Given the description of an element on the screen output the (x, y) to click on. 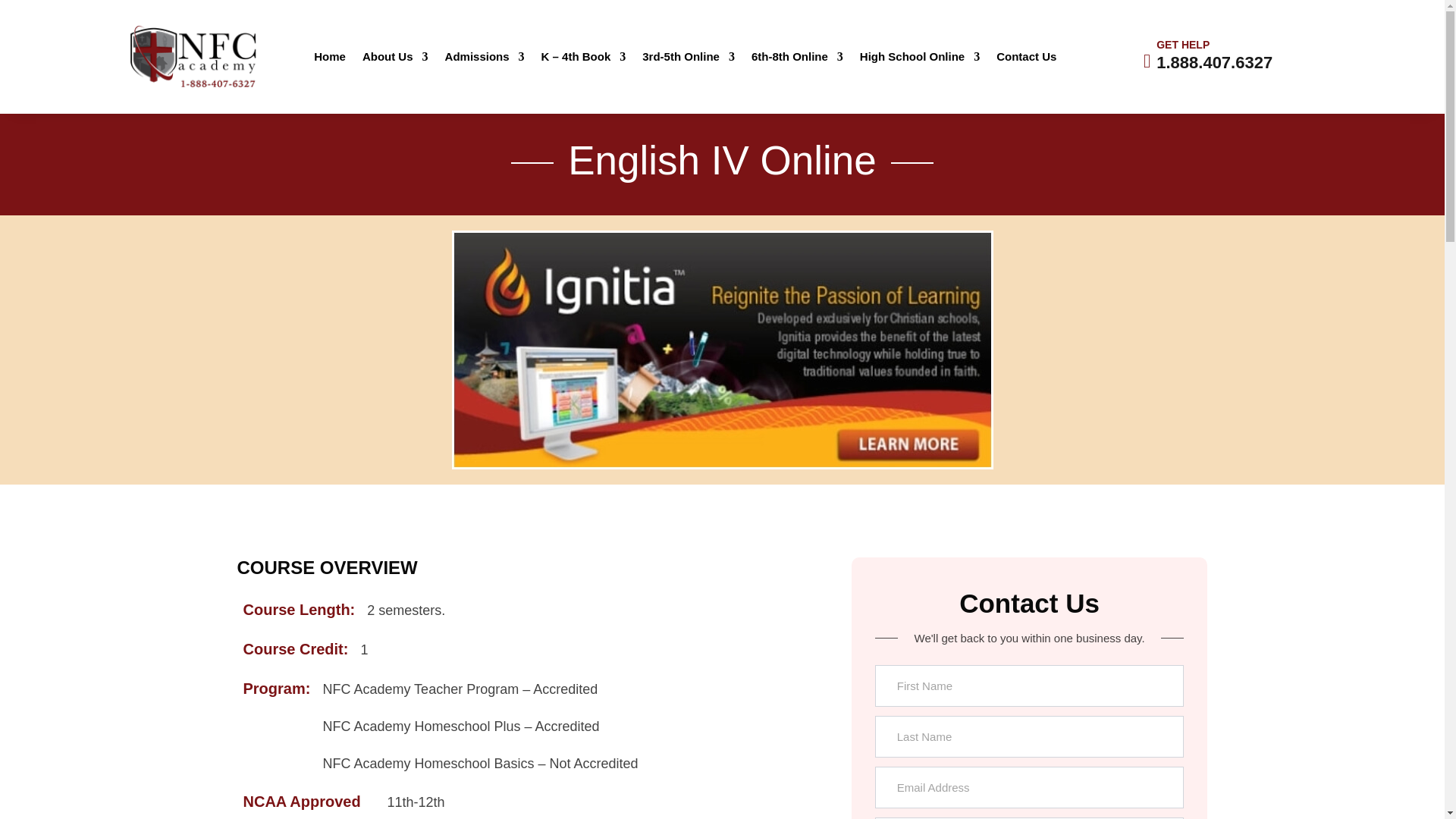
Home (330, 59)
Admissions (484, 59)
About Us (395, 59)
ignitia-img (721, 349)
3rd-5th Online (688, 59)
NFC Academy (195, 56)
